Given the description of an element on the screen output the (x, y) to click on. 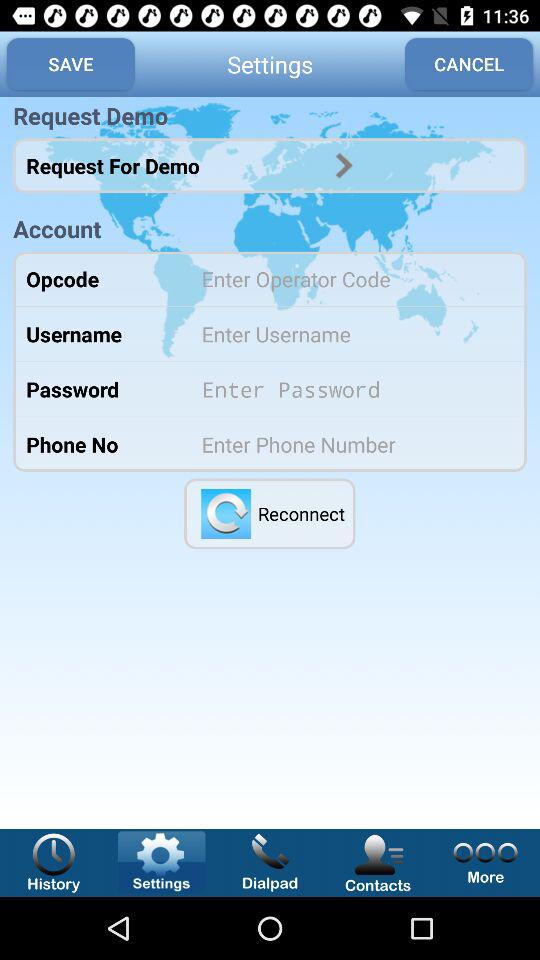
toggle text option (350, 333)
